Given the description of an element on the screen output the (x, y) to click on. 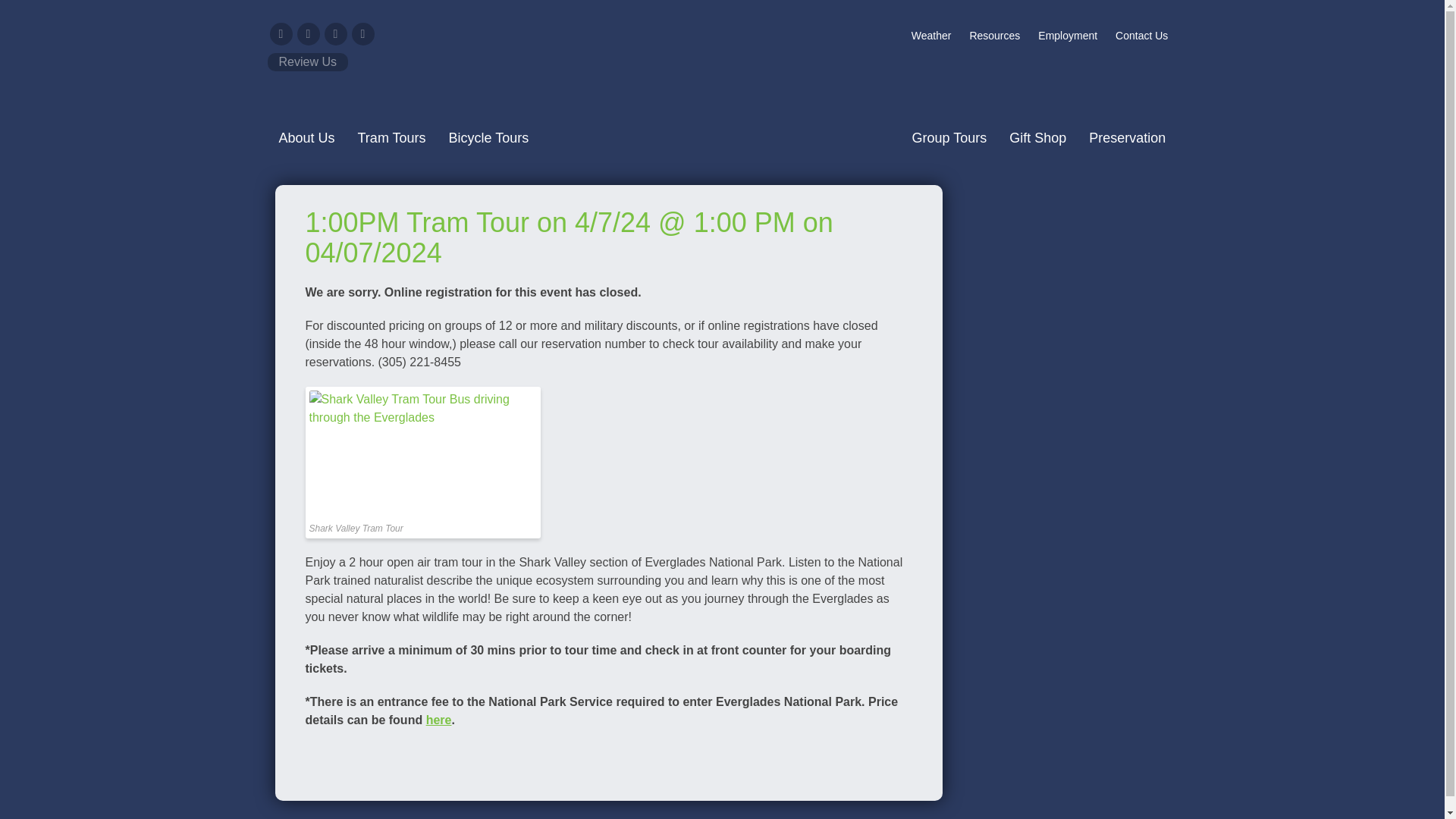
Review Us (306, 62)
Gift Shop (1037, 137)
here (438, 719)
Shark Valley Tram Tours (721, 83)
Preservation (1126, 137)
Tram Tours (392, 137)
About Us (306, 137)
Bicycle Tours (489, 137)
Weather (931, 35)
Contact Us (1141, 35)
Resources (994, 35)
Employment (1067, 35)
Group Tours (949, 137)
